Given the description of an element on the screen output the (x, y) to click on. 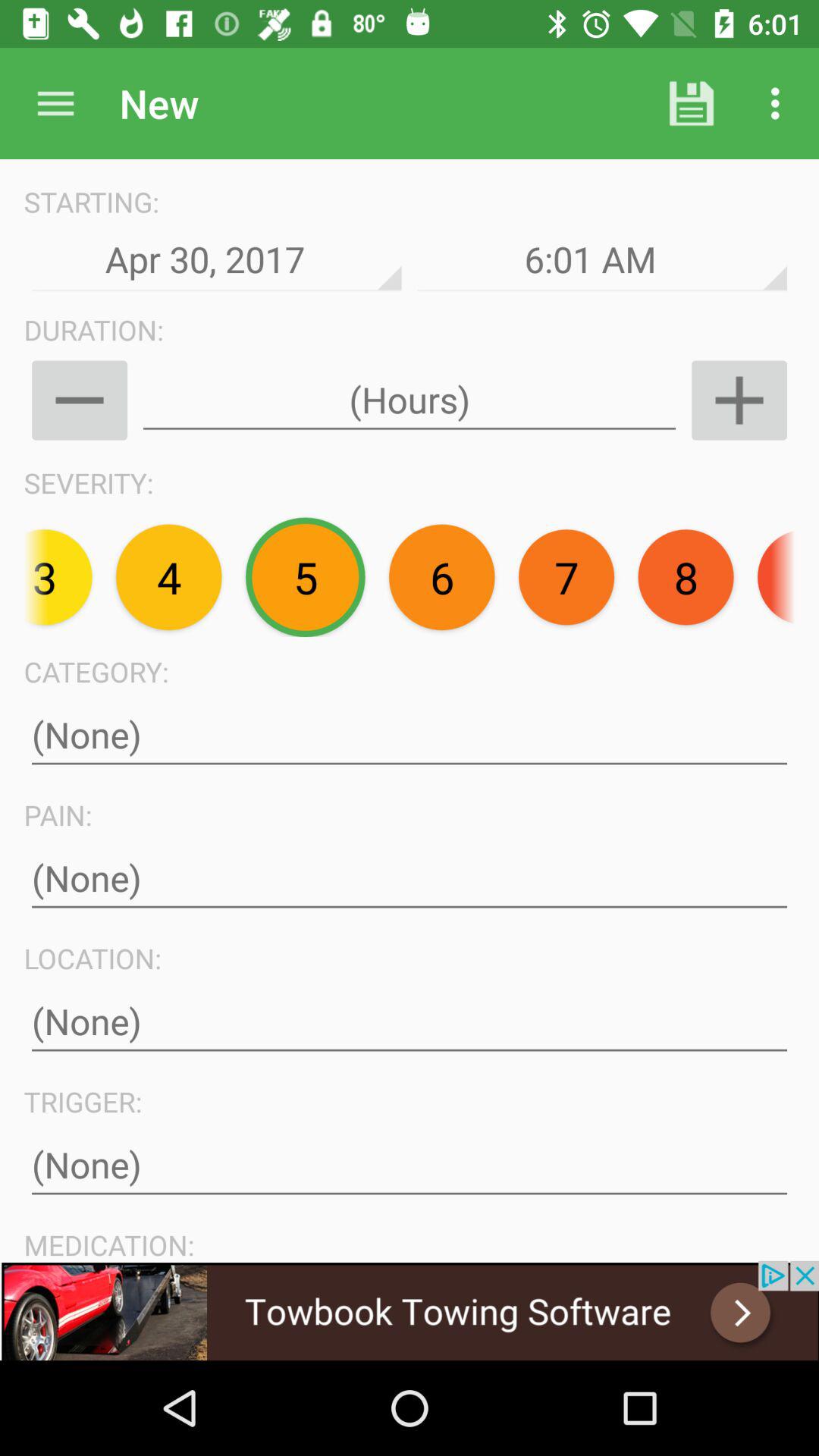
description (409, 1021)
